Given the description of an element on the screen output the (x, y) to click on. 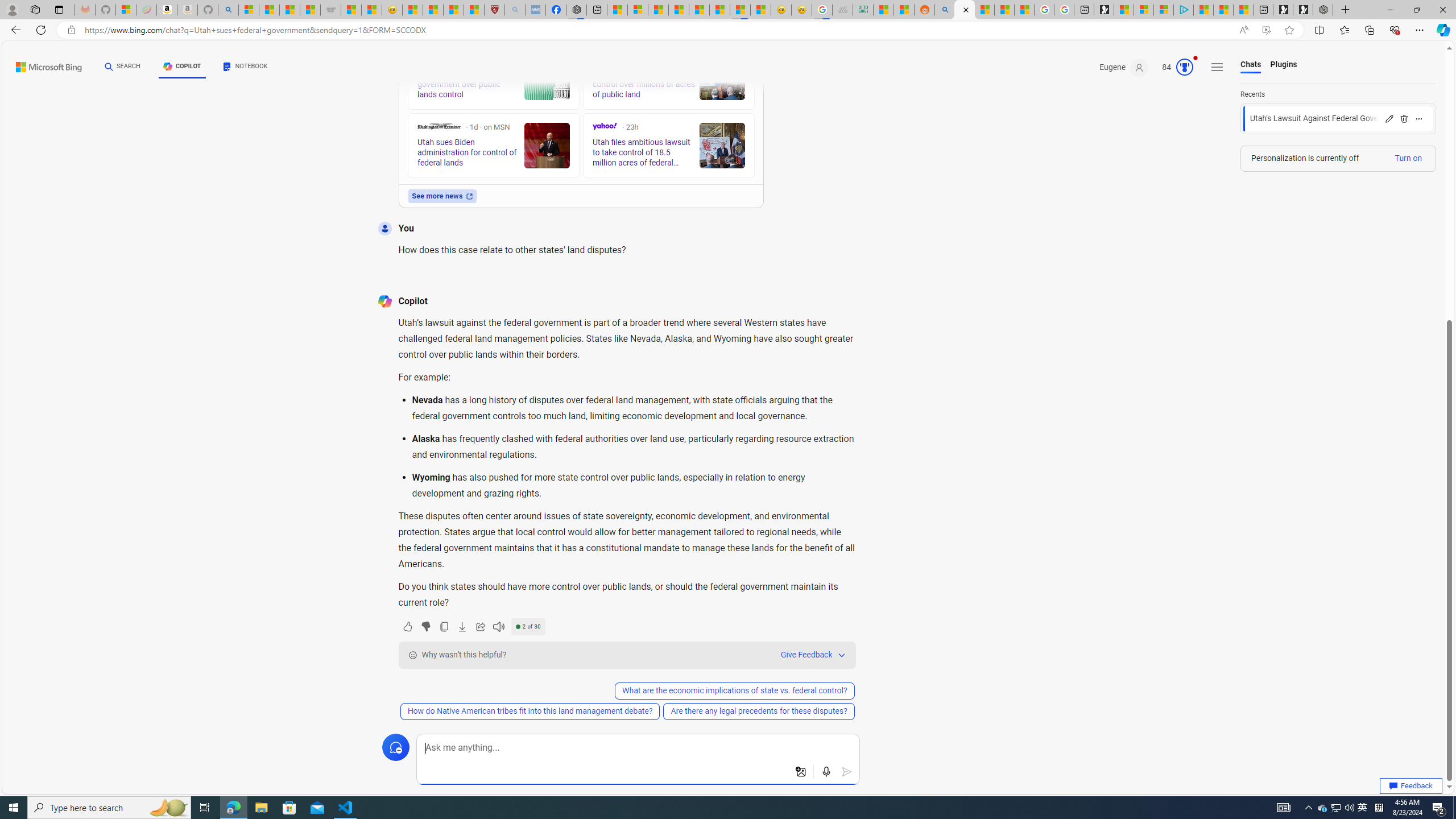
Add an image to search (800, 771)
Chats (1250, 65)
